Given the description of an element on the screen output the (x, y) to click on. 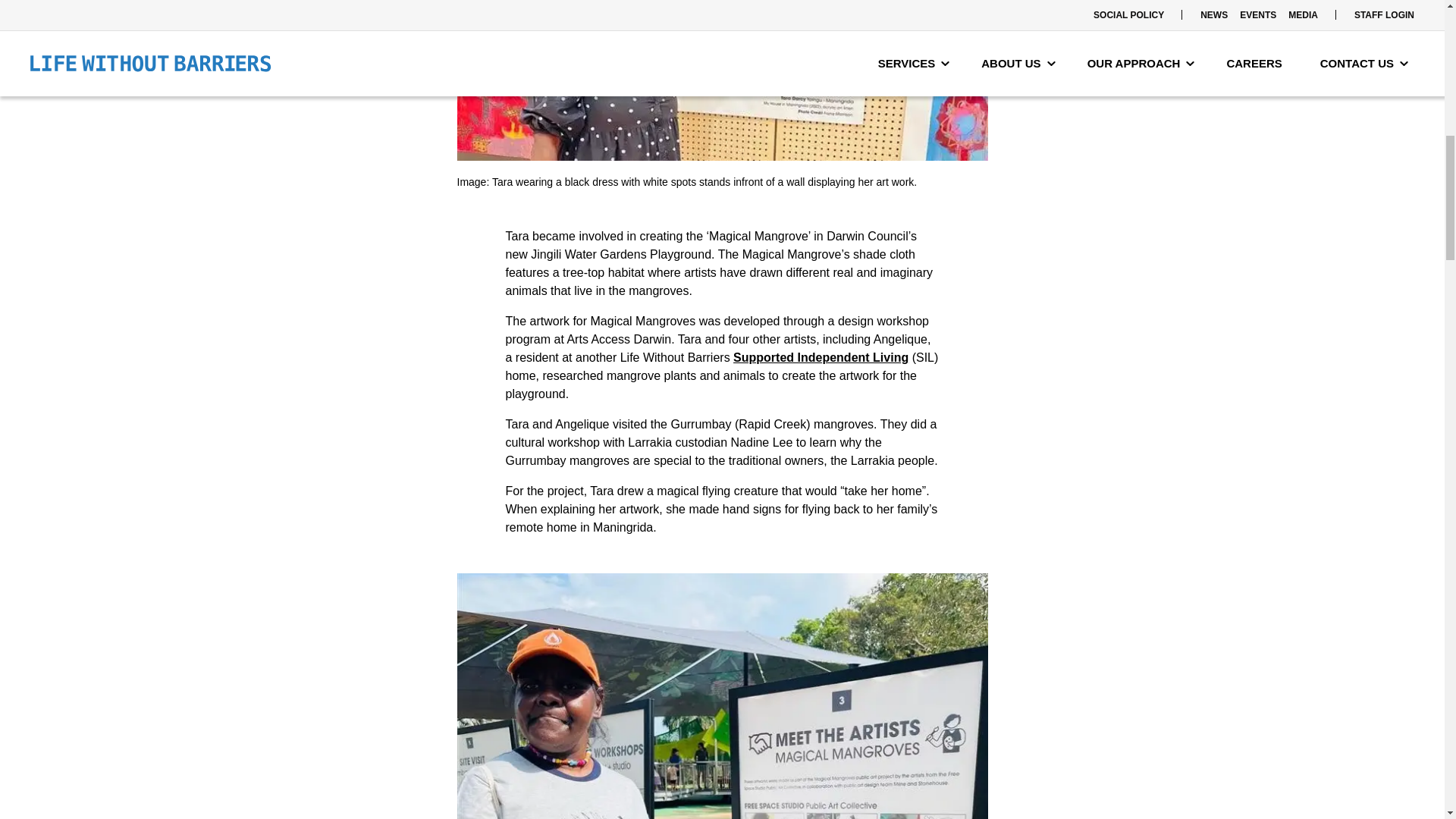
Supported Independent Living (820, 357)
